Given the description of an element on the screen output the (x, y) to click on. 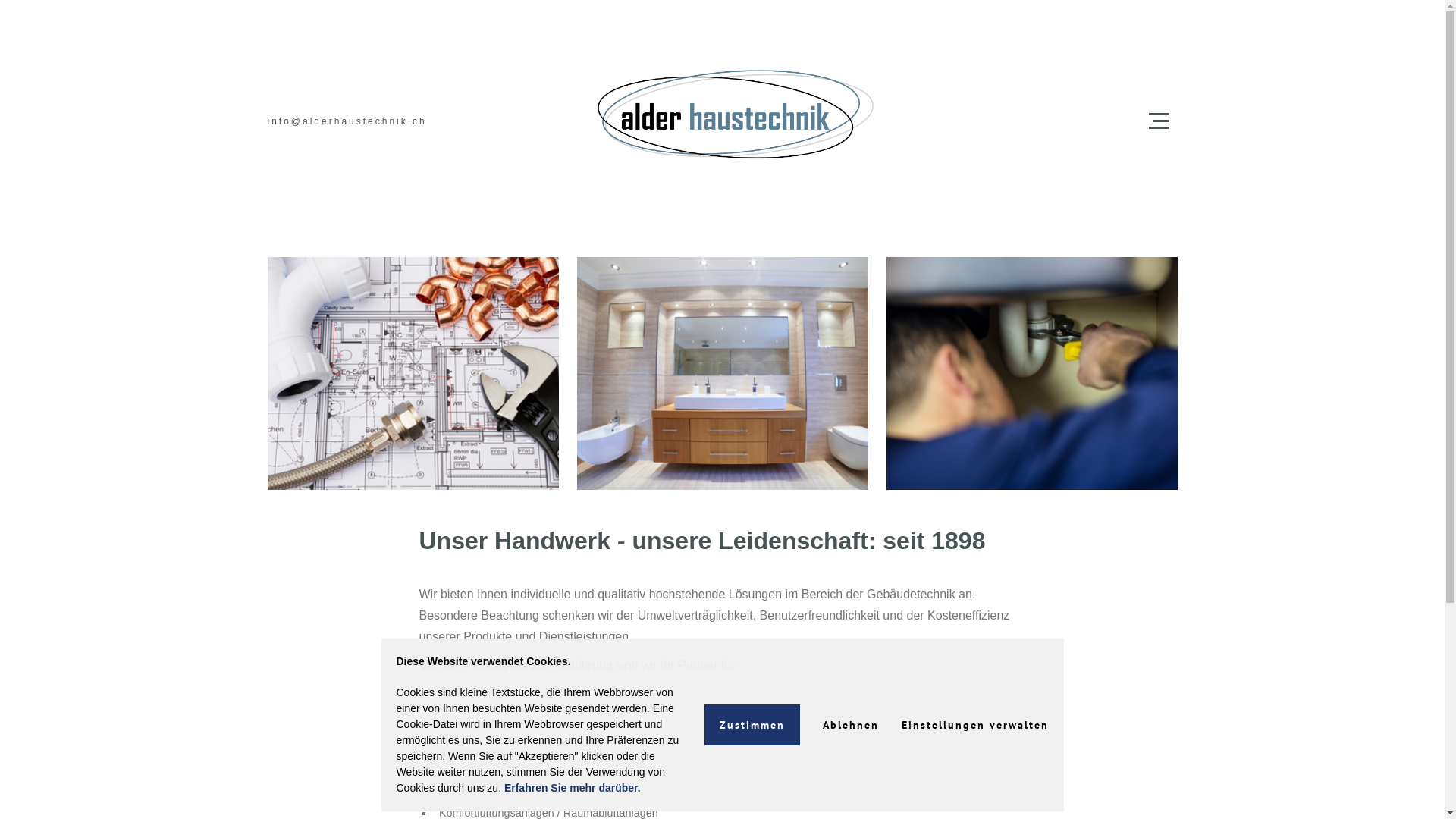
alder haustechnik gmbh Element type: hover (721, 120)
Einstellungen verwalten Element type: text (974, 724)
info@alderhaustechnik.ch Element type: text (346, 120)
Ablehnen Element type: text (850, 724)
Zustimmen Element type: text (751, 724)
